Given the description of an element on the screen output the (x, y) to click on. 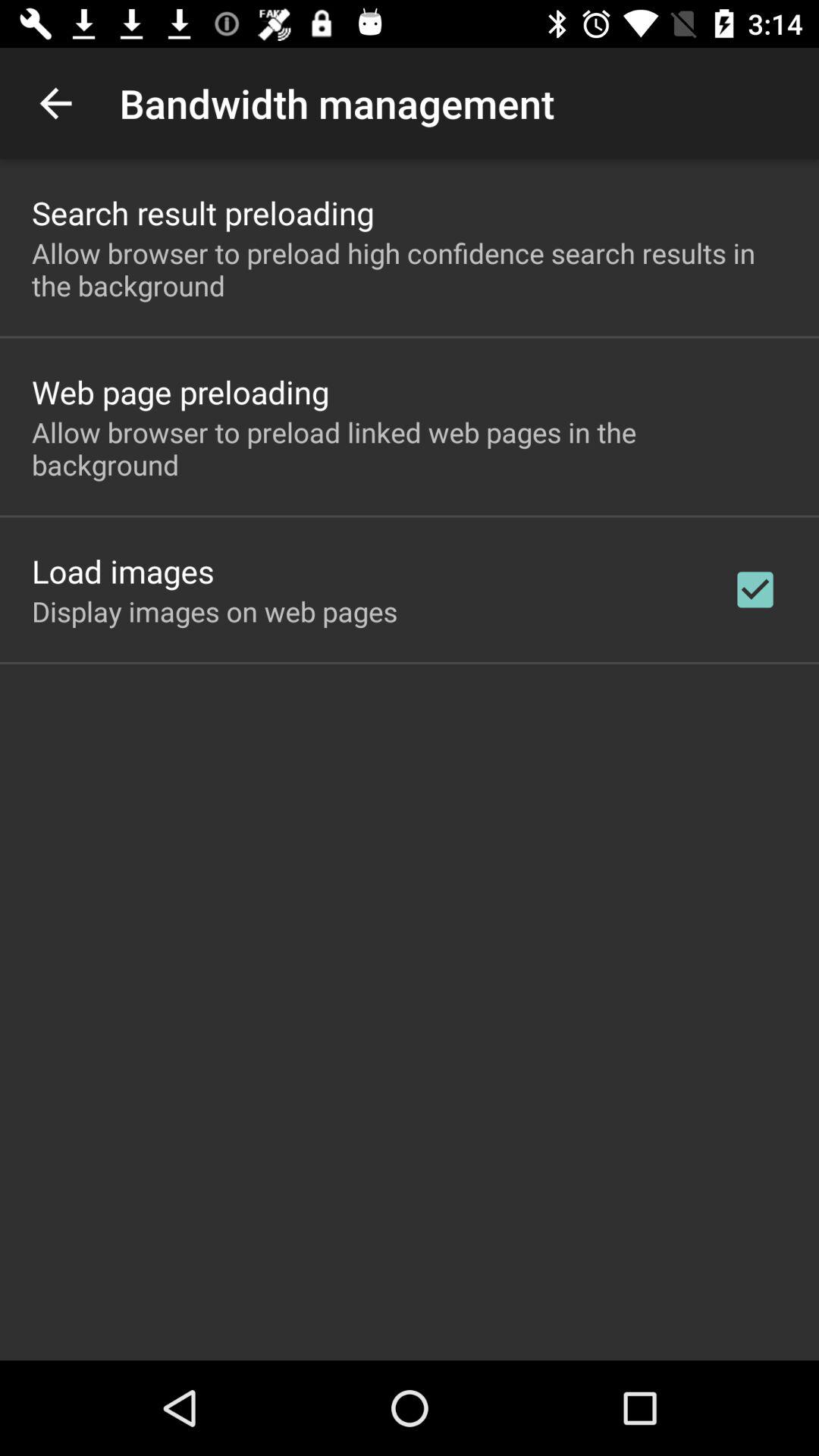
swipe to the search result preloading app (202, 212)
